Given the description of an element on the screen output the (x, y) to click on. 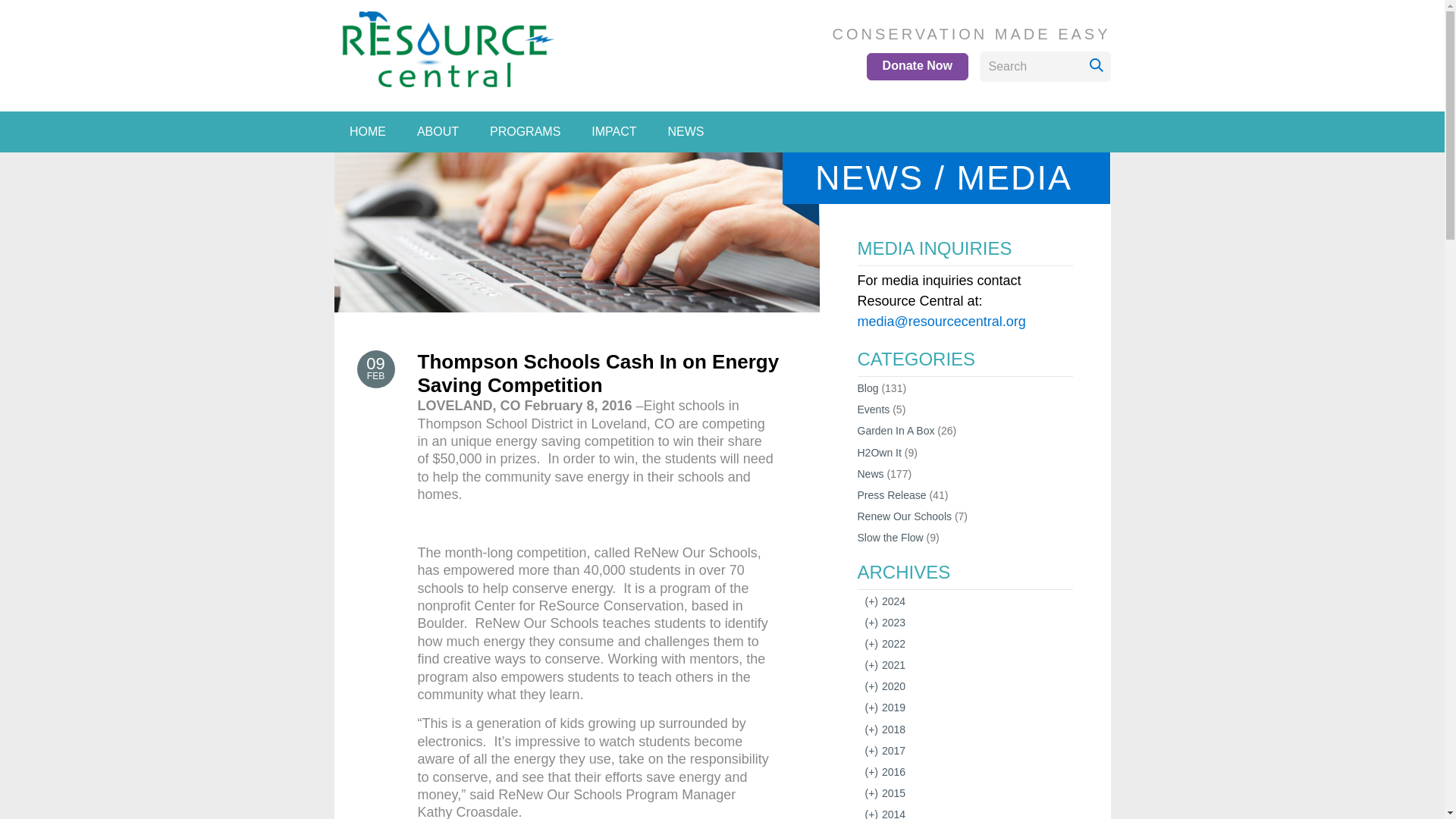
Donate Now (917, 66)
Resource Central (465, 109)
HOME (367, 131)
ABOUT (437, 131)
2024 (873, 600)
2024 (893, 600)
PROGRAMS (524, 131)
